Given the description of an element on the screen output the (x, y) to click on. 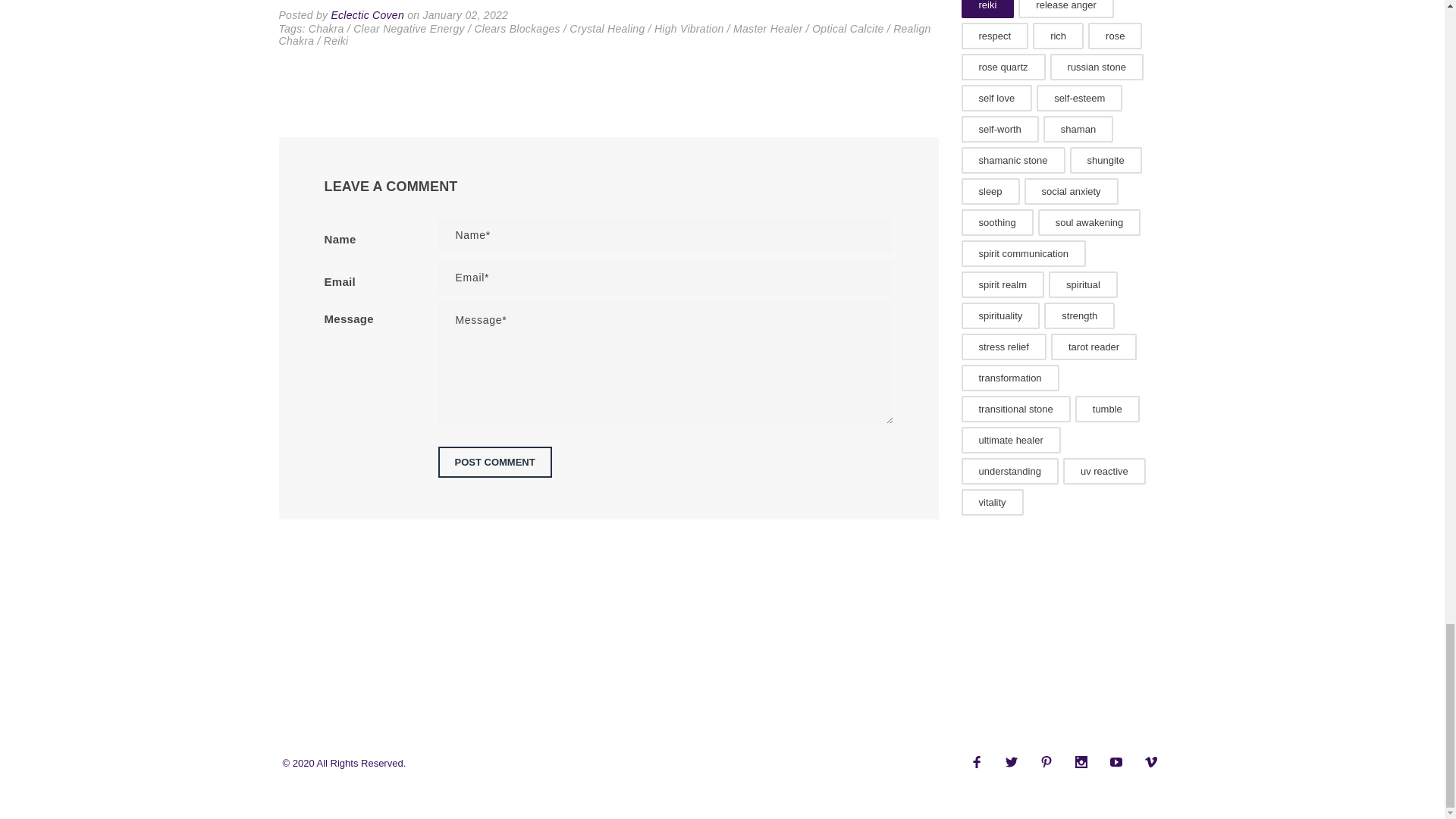
Eclectic Coven on Instagram (1080, 761)
Eclectic Coven on Pinterest (1045, 761)
Eclectic Coven on Vimeo (1150, 761)
Eclectic Coven on Facebook (975, 761)
Eclectic Coven on Twitter (1010, 761)
Eclectic Coven on YouTube (1115, 761)
